Given the description of an element on the screen output the (x, y) to click on. 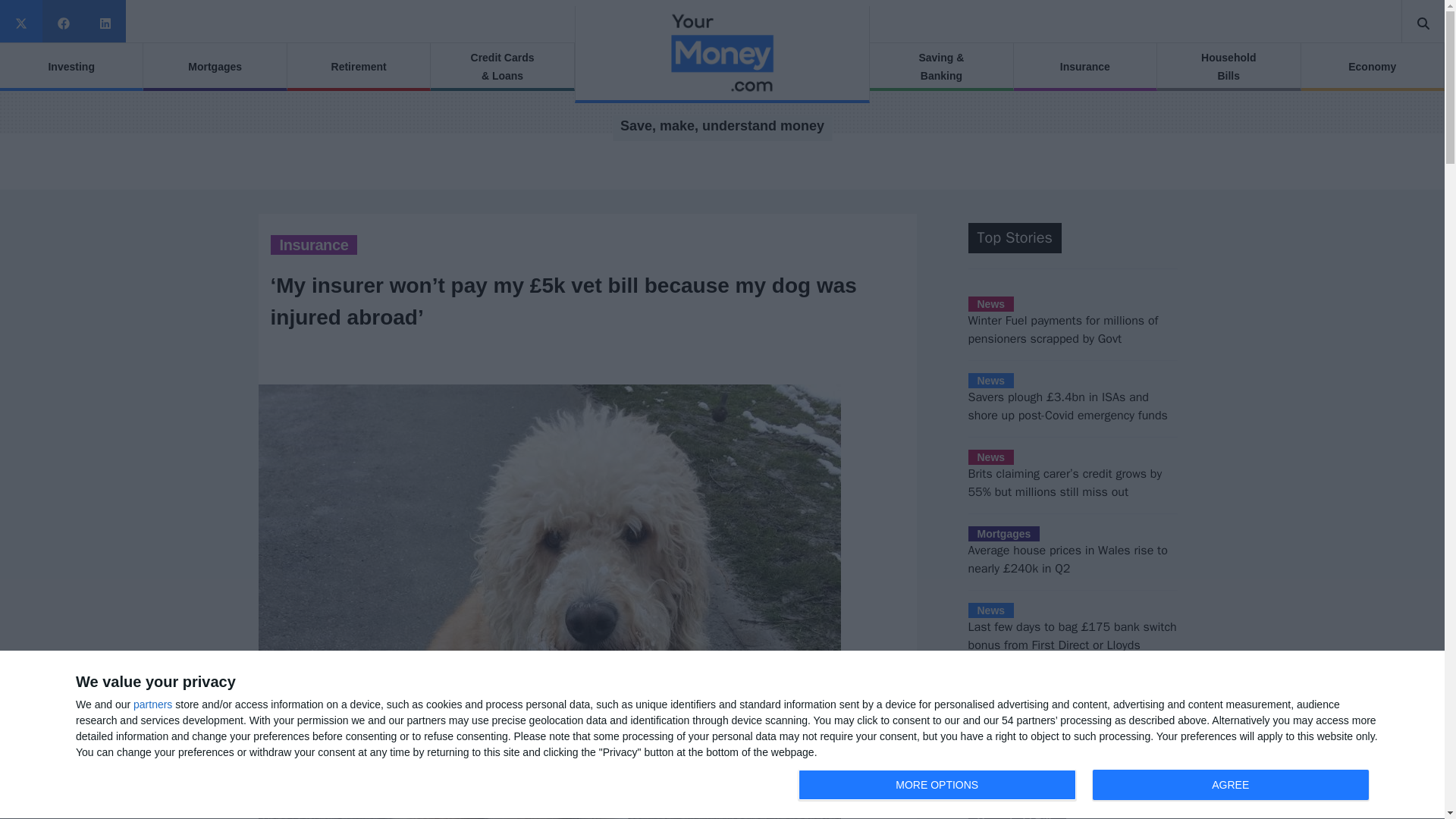
Retirement (358, 66)
Insurance (1085, 66)
Insurance (1086, 785)
MORE OPTIONS (313, 244)
Economy (936, 784)
AGREE (1372, 66)
partners (1230, 784)
Mortgages (152, 704)
Investing (214, 66)
